Given the description of an element on the screen output the (x, y) to click on. 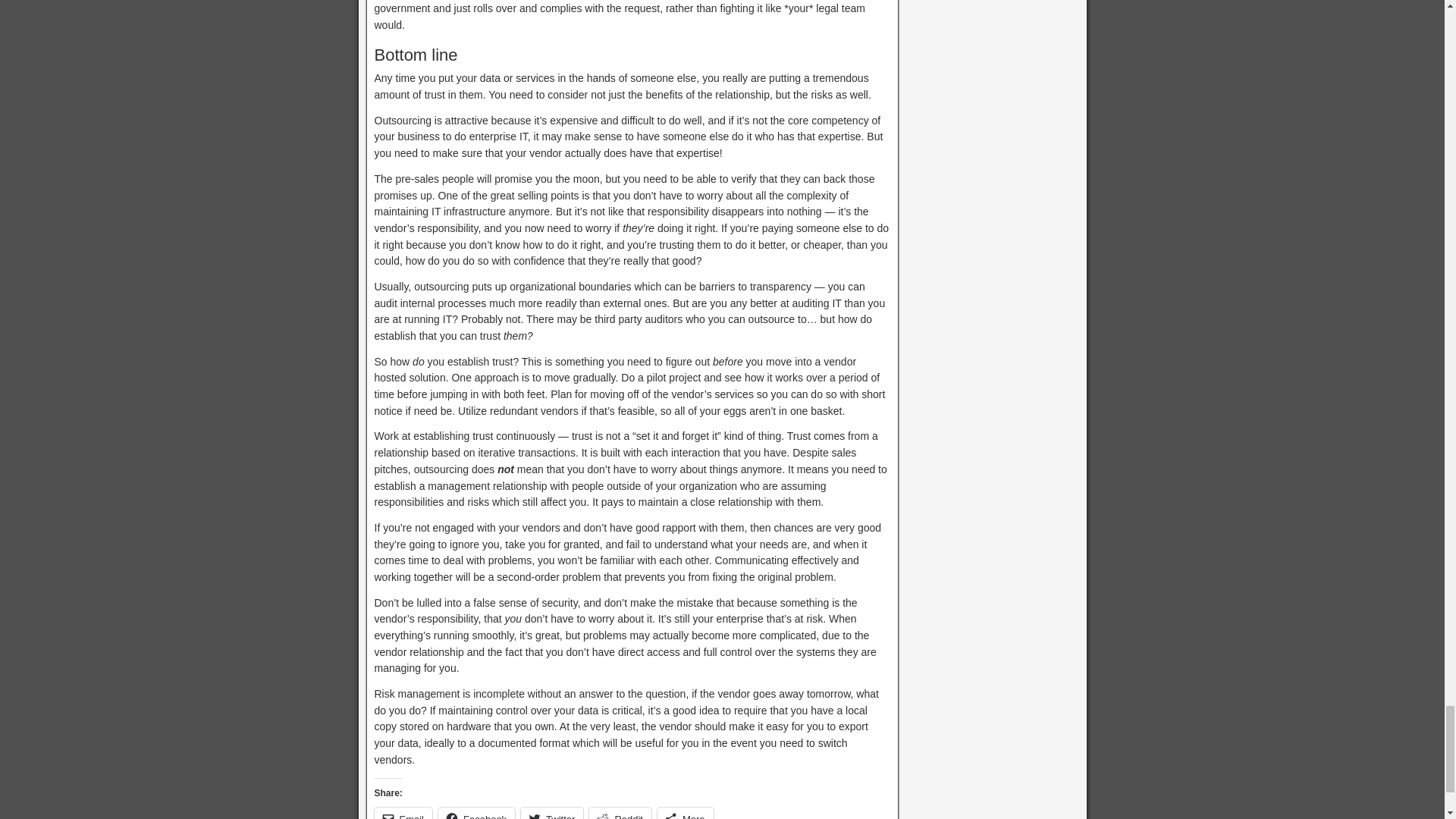
Click to email a link to a friend (403, 813)
